Given the description of an element on the screen output the (x, y) to click on. 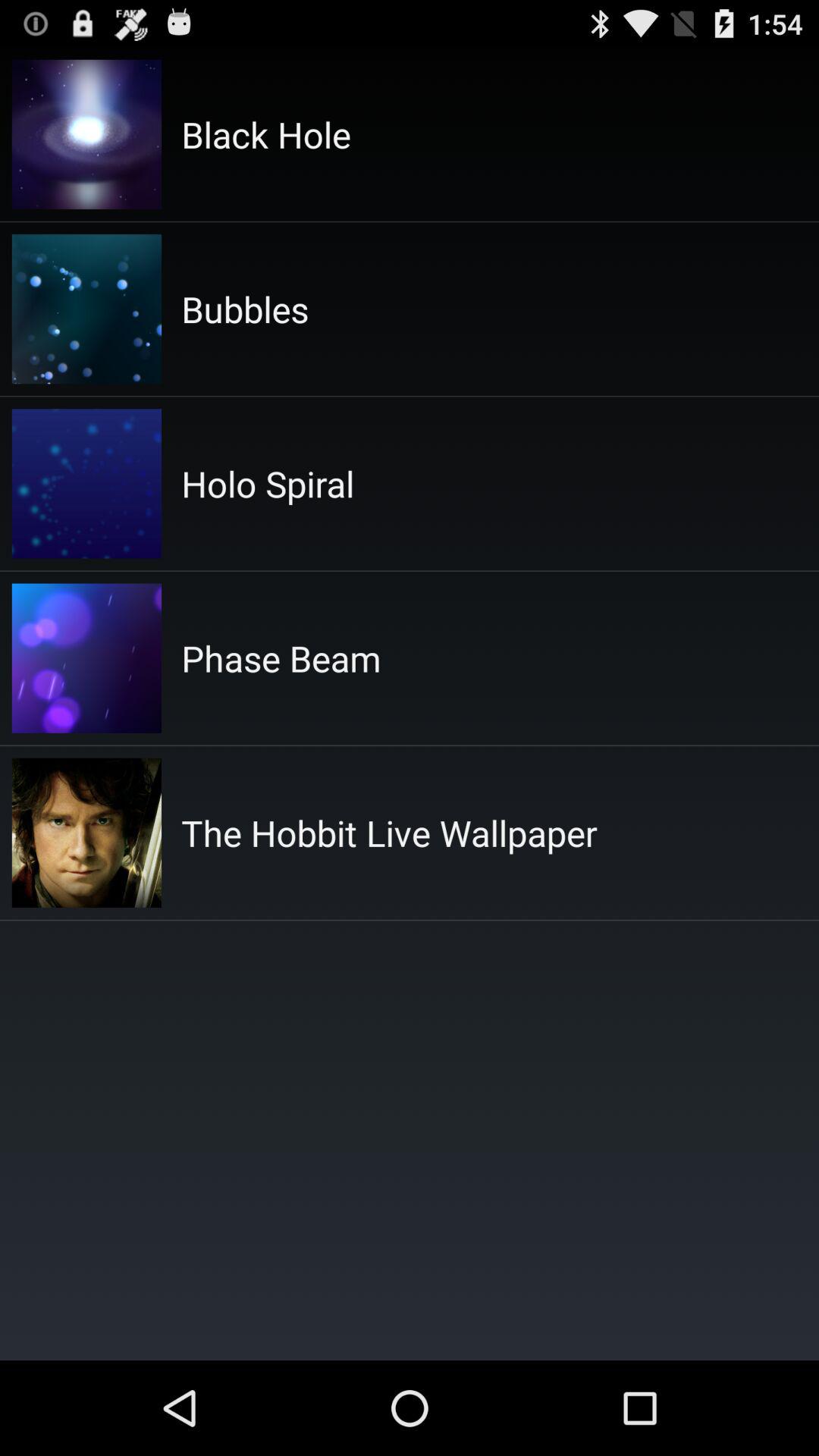
turn off app above the phase beam item (267, 483)
